Given the description of an element on the screen output the (x, y) to click on. 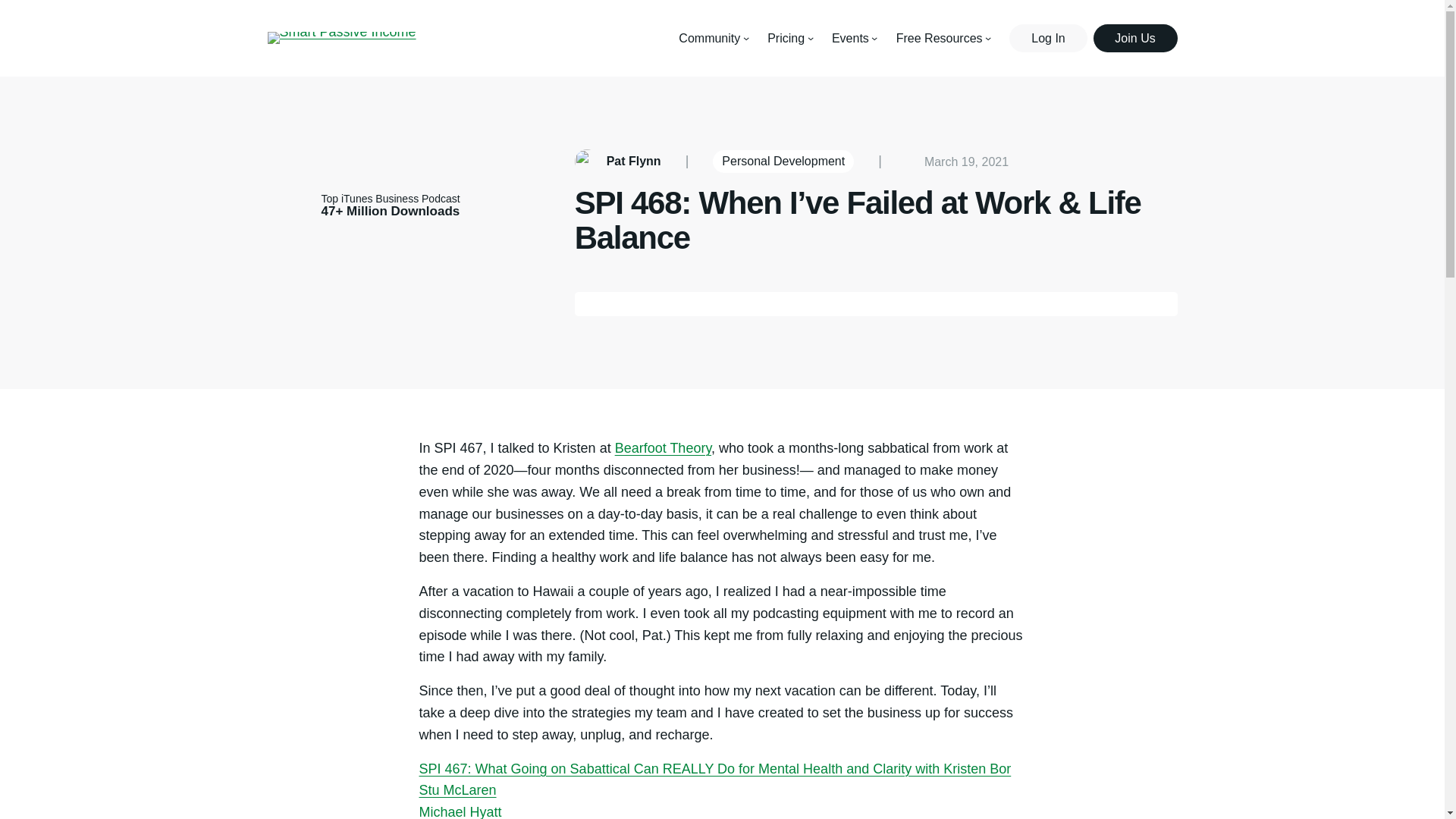
Free Resources (939, 38)
Pricing (786, 38)
Log In (1047, 38)
Events (850, 38)
Community (708, 38)
Stu McLaren (457, 789)
Personal Development (783, 160)
Join Us (1135, 38)
Michael Hyatt (459, 811)
Bearfoot Theory (662, 447)
